Given the description of an element on the screen output the (x, y) to click on. 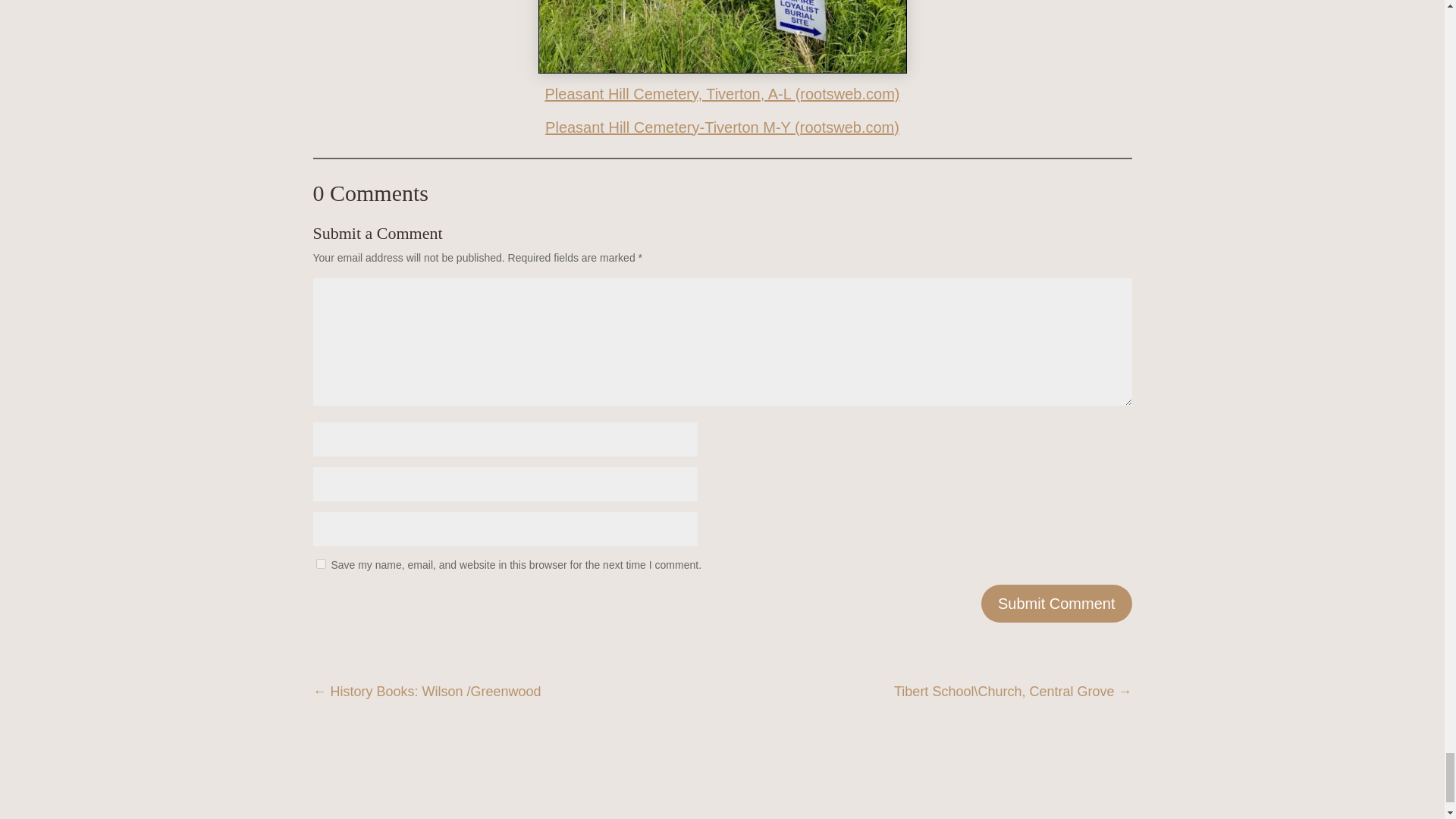
yes (319, 563)
Submit Comment (1056, 603)
